Given the description of an element on the screen output the (x, y) to click on. 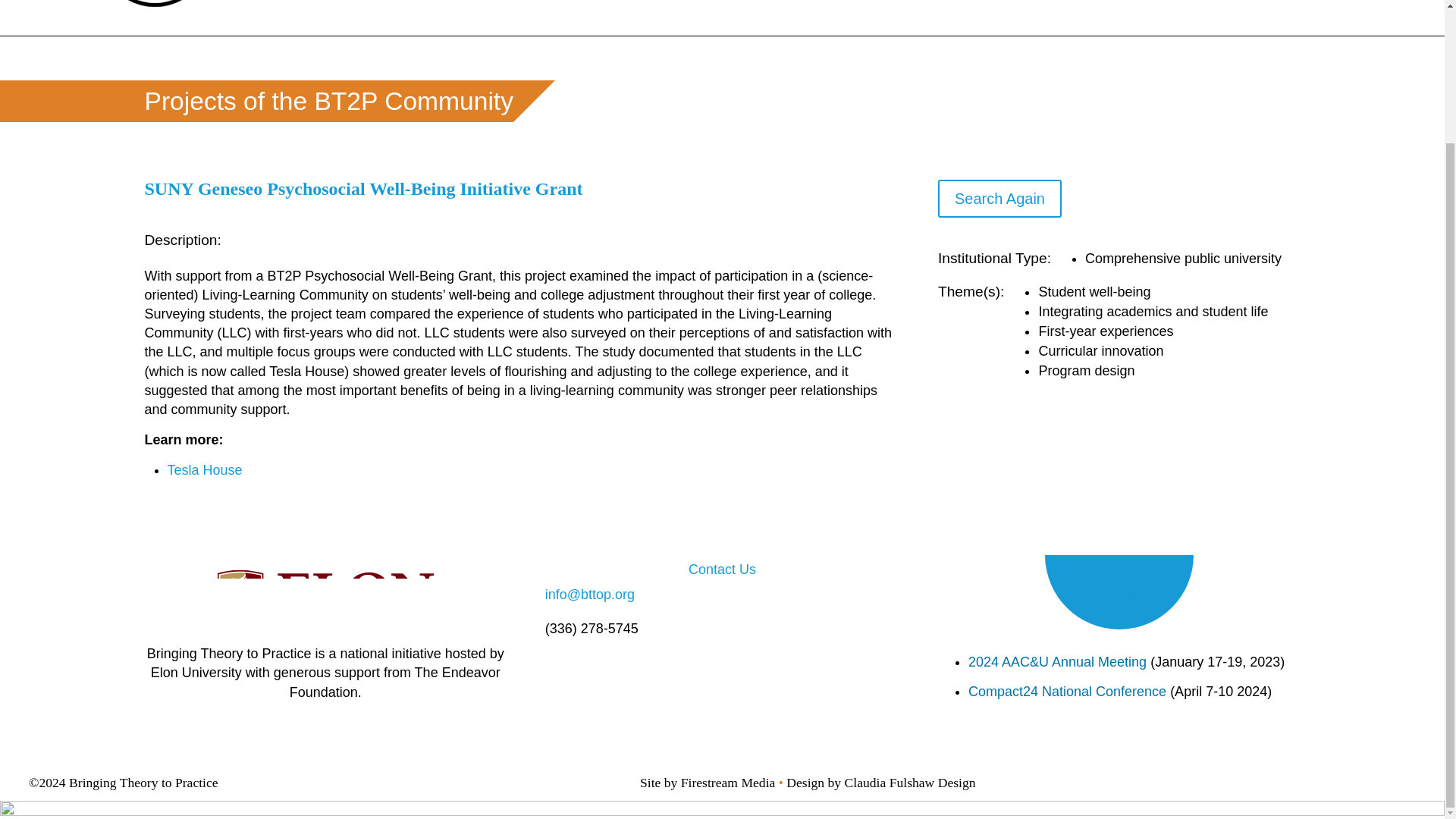
Tesla House (204, 469)
Design by Claudia Fulshaw Design (880, 782)
BT2P-logo-png (184, 3)
Search Again (999, 198)
Compact24 National Conference (1067, 691)
Firestream Media (728, 782)
